Given the description of an element on the screen output the (x, y) to click on. 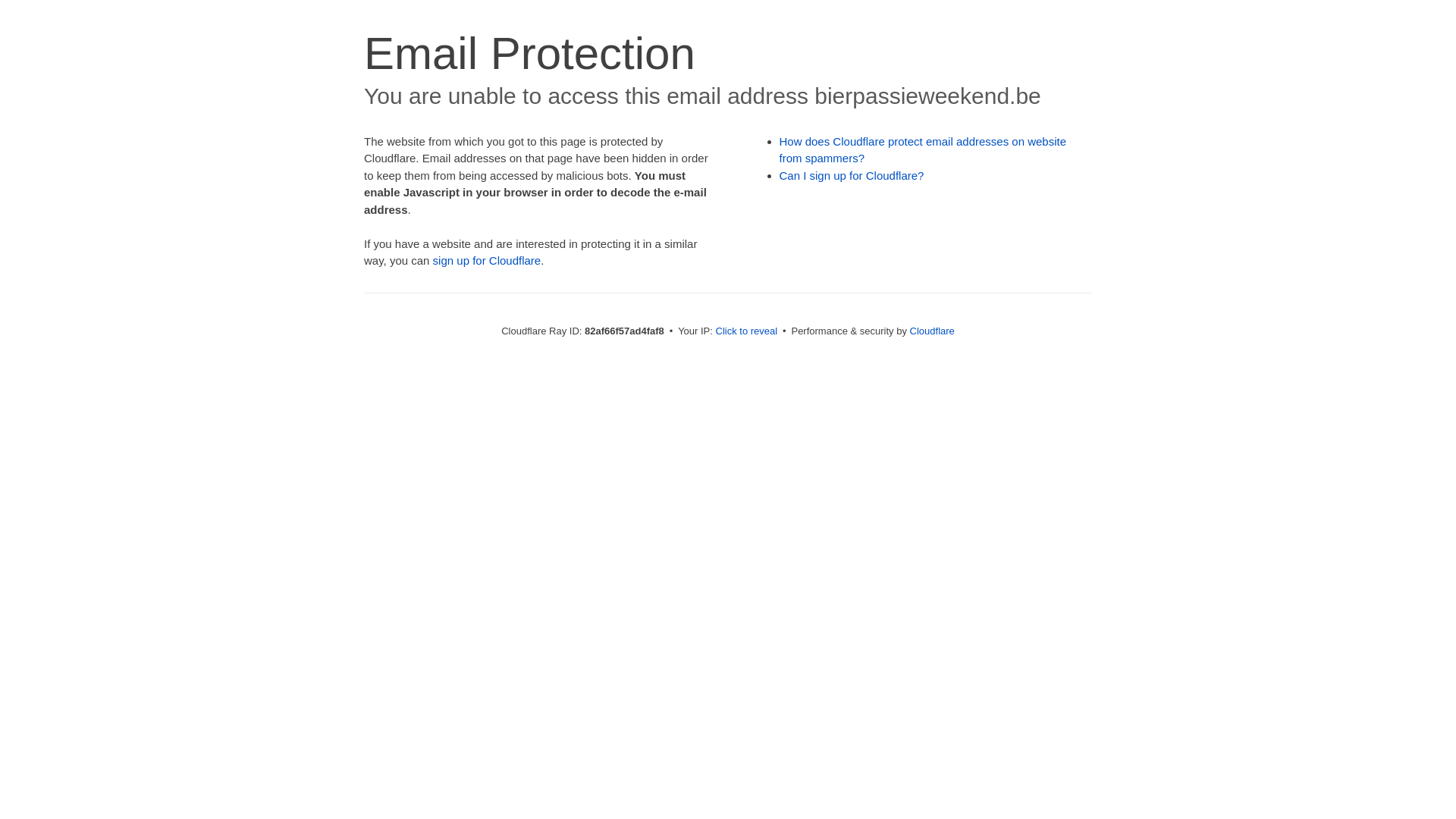
Cloudflare Element type: text (932, 330)
sign up for Cloudflare Element type: text (487, 260)
Click to reveal Element type: text (746, 330)
Can I sign up for Cloudflare? Element type: text (851, 175)
